Given the description of an element on the screen output the (x, y) to click on. 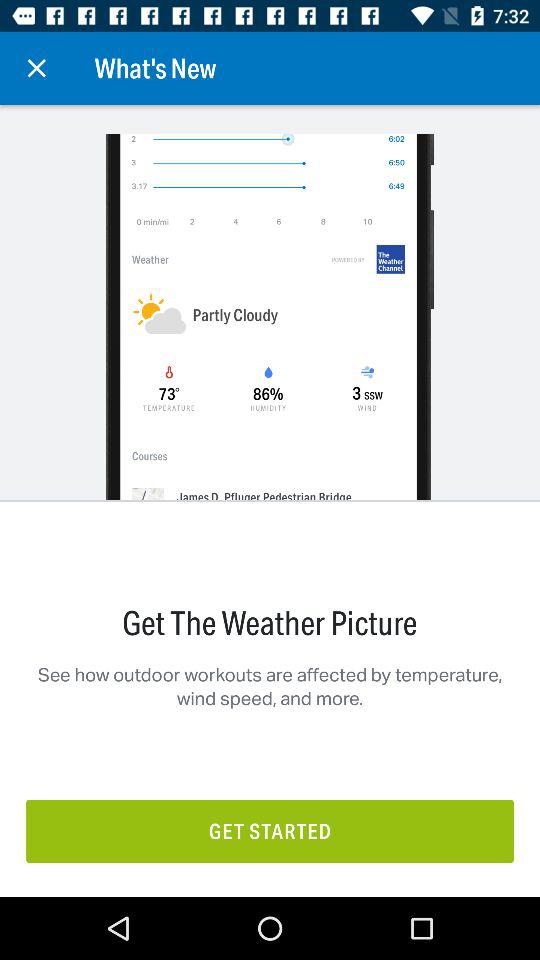
choose the icon to the left of what's new icon (36, 68)
